Given the description of an element on the screen output the (x, y) to click on. 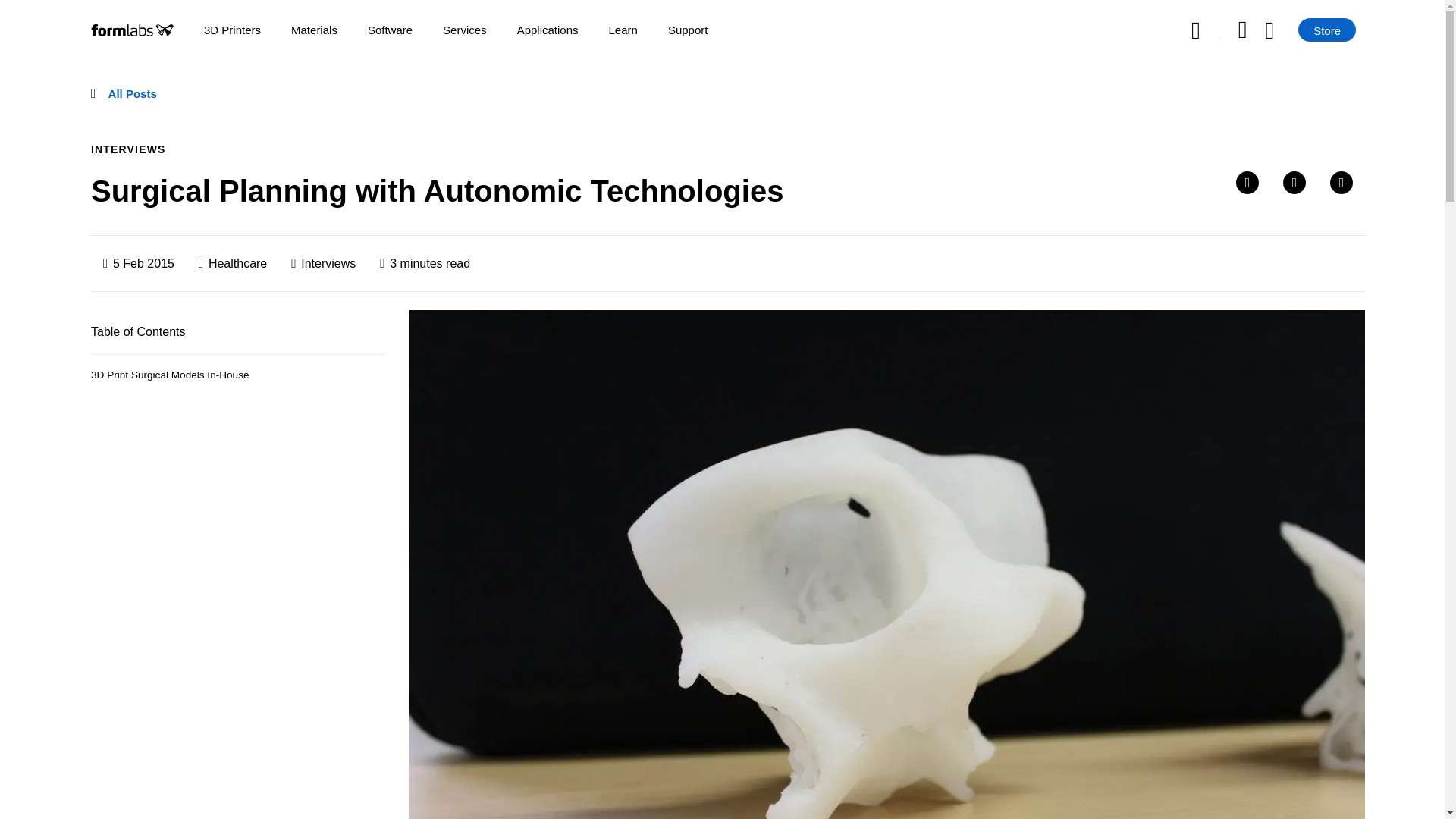
Learn (622, 29)
Support (687, 29)
Store (1326, 29)
Software (390, 29)
Cart (1281, 30)
3D Printers (231, 29)
Store (1326, 29)
Applications (547, 29)
Services (464, 29)
Materials (314, 29)
